Given the description of an element on the screen output the (x, y) to click on. 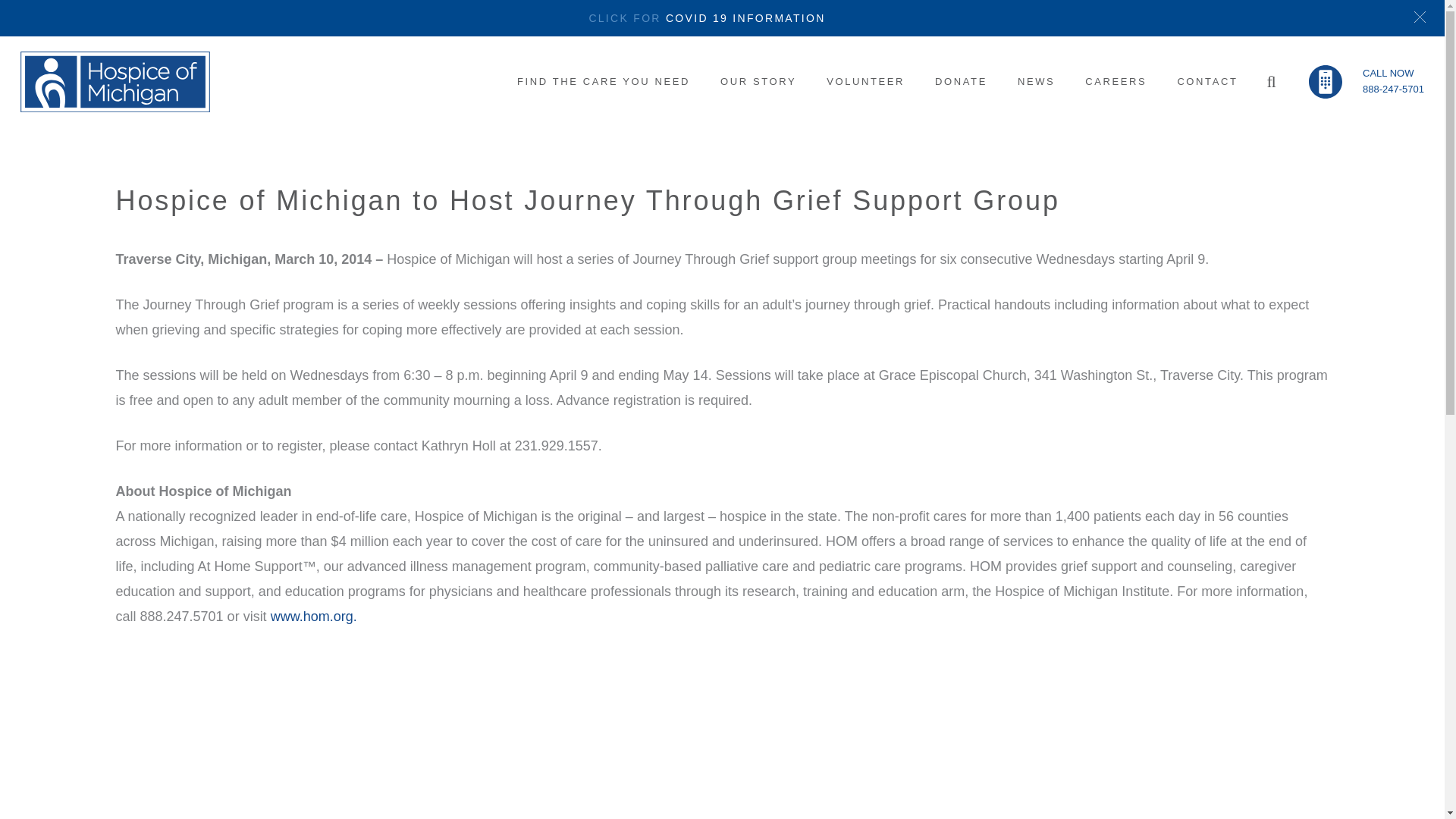
FIND THE CARE YOU NEED (603, 81)
OUR STORY (757, 81)
VOLUNTEER (865, 81)
DONATE (961, 81)
